Given the description of an element on the screen output the (x, y) to click on. 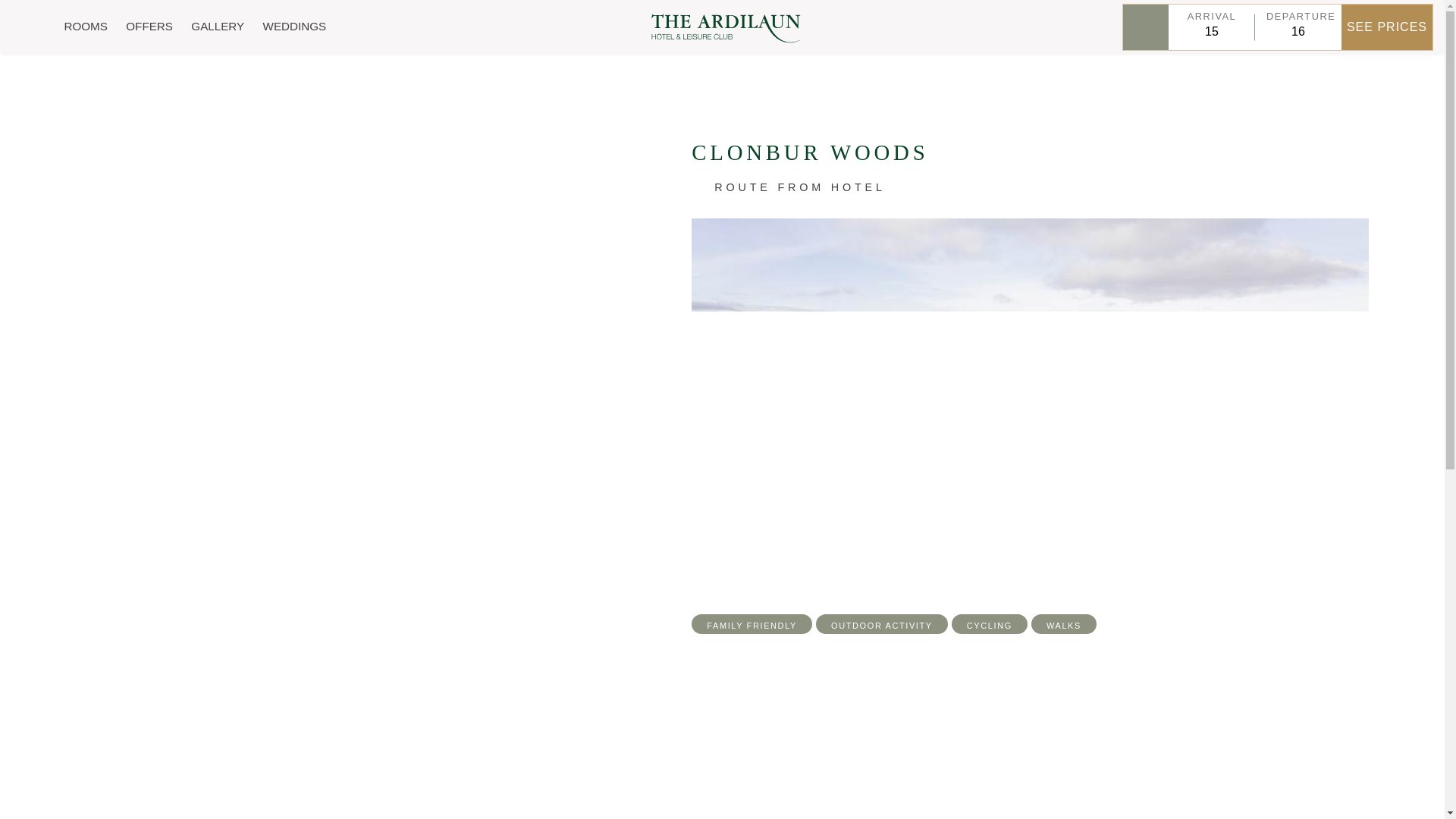
See Prices (1386, 26)
SHOW ON MAP ROUTE FROM HOTEL (788, 186)
Menu (26, 26)
Gift Vouchers (1145, 26)
ROOMS (85, 26)
WEDDINGS (295, 26)
OFFERS (148, 26)
SEE PRICES (1386, 26)
GALLERY (217, 26)
